Given the description of an element on the screen output the (x, y) to click on. 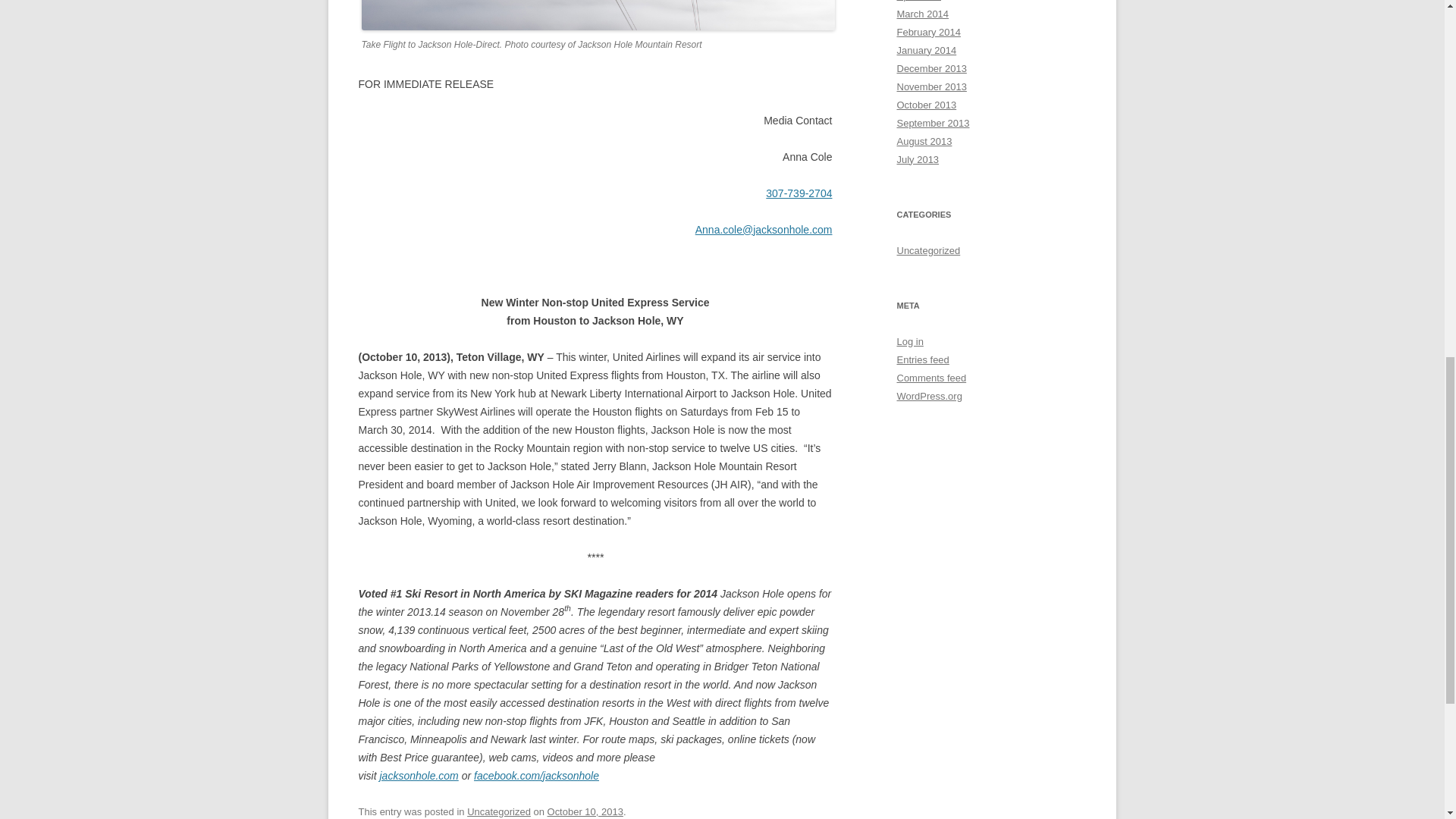
Entries feed (922, 359)
November 2013 (931, 86)
August 2013 (924, 141)
Comments feed (931, 378)
October 10, 2013 (585, 811)
5:03 pm (585, 811)
jacksonhole.com (418, 775)
Uncategorized (499, 811)
December 2013 (931, 68)
September 2013 (932, 122)
Log in (909, 341)
March 2014 (922, 13)
October 2013 (926, 104)
307-739-2704 (798, 193)
April 2014 (918, 0)
